Given the description of an element on the screen output the (x, y) to click on. 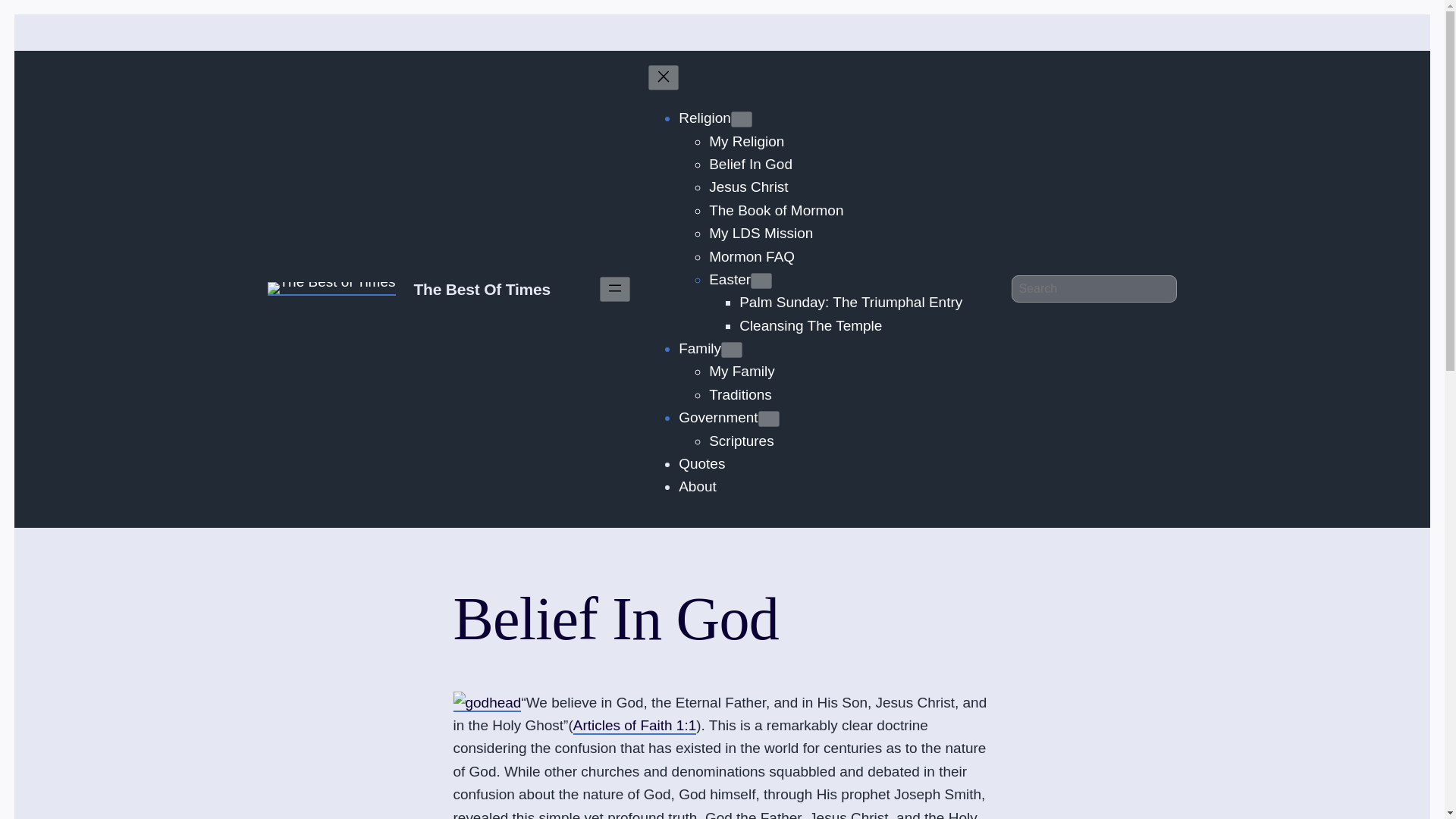
Government (717, 417)
Jesus Christ (748, 187)
My Religion (746, 141)
Belief In God (750, 164)
Cleansing The Temple (810, 325)
Palm Sunday: The Triumphal Entry (850, 303)
Mormon FAQ (751, 257)
Scriptures (741, 441)
Quotes (701, 464)
Traditions (740, 395)
The Book of Mormon (776, 211)
Easter (730, 280)
My Family (741, 371)
Articles of Faith 1:1 (635, 725)
The Best Of Times (481, 289)
